Given the description of an element on the screen output the (x, y) to click on. 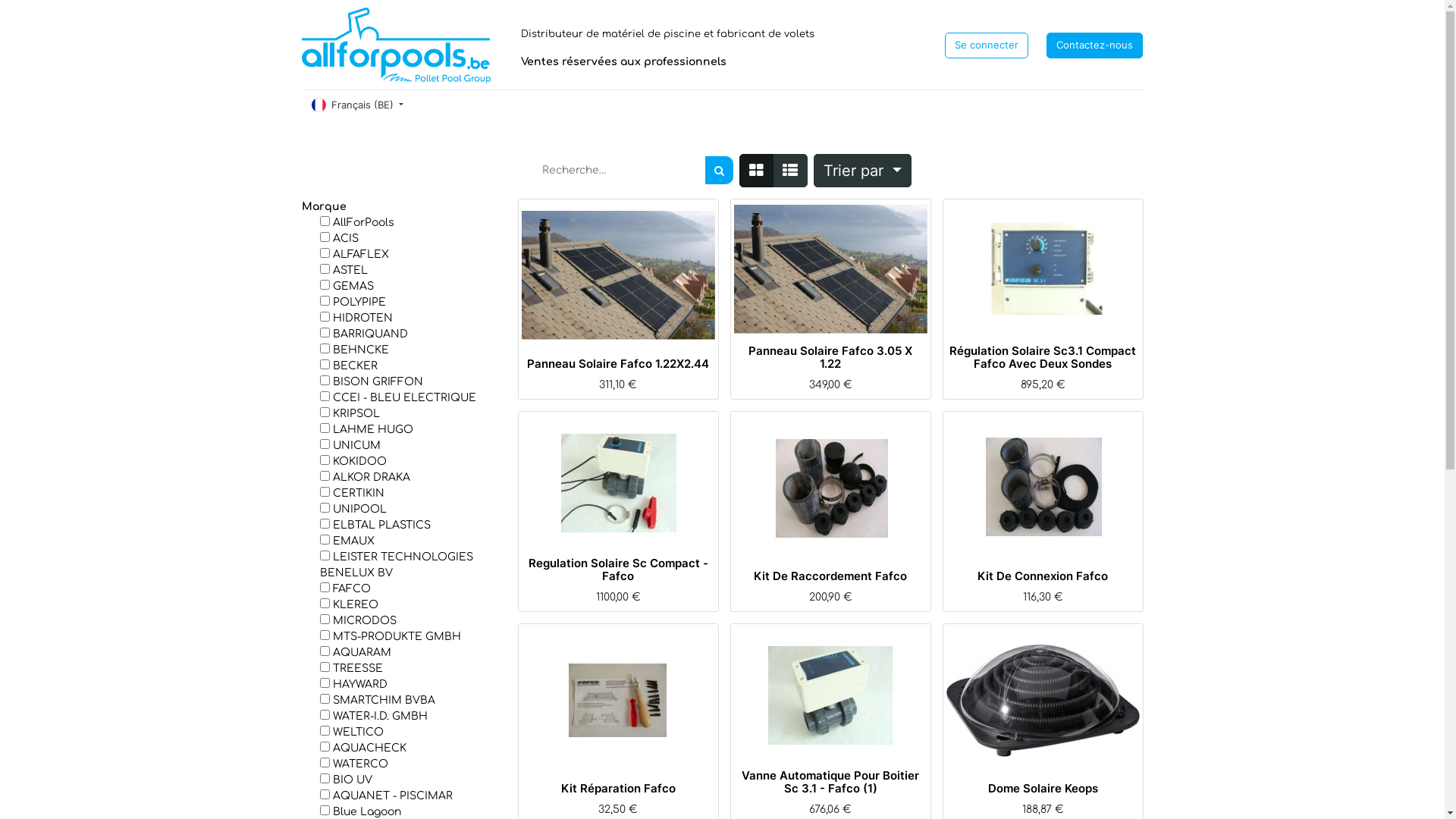
Contactez-nous Element type: text (1094, 45)
Se connecter Element type: text (986, 45)
Panier Element type: hover (1040, 560)
Panier Element type: hover (616, 547)
Vanne Automatique Pour Boitier Sc 3.1 - Fafco (1) Element type: text (830, 781)
Panier Element type: hover (1040, 773)
Trier par Element type: text (861, 170)
Panier Element type: hover (616, 773)
Kit De Raccordement Fafco Element type: text (829, 575)
Panneau Solaire Fafco 3.05 X 1.22 Element type: text (830, 356)
Panier Element type: hover (616, 348)
Panneau Solaire Fafco 1.22X2.44 Element type: text (618, 363)
Kit De Connexion Fafco Element type: text (1042, 575)
Dome Solaire Keops Element type: text (1042, 788)
Rechercher Element type: hover (719, 170)
Panier Element type: hover (828, 760)
Panier Element type: hover (1040, 335)
Liste Element type: hover (789, 170)
Tarifs Element type: hover (756, 170)
AllForPools Element type: hover (396, 45)
Panier Element type: hover (828, 560)
Regulation Solaire Sc Compact - Fafco Element type: text (617, 569)
Panier Element type: hover (828, 335)
